Given the description of an element on the screen output the (x, y) to click on. 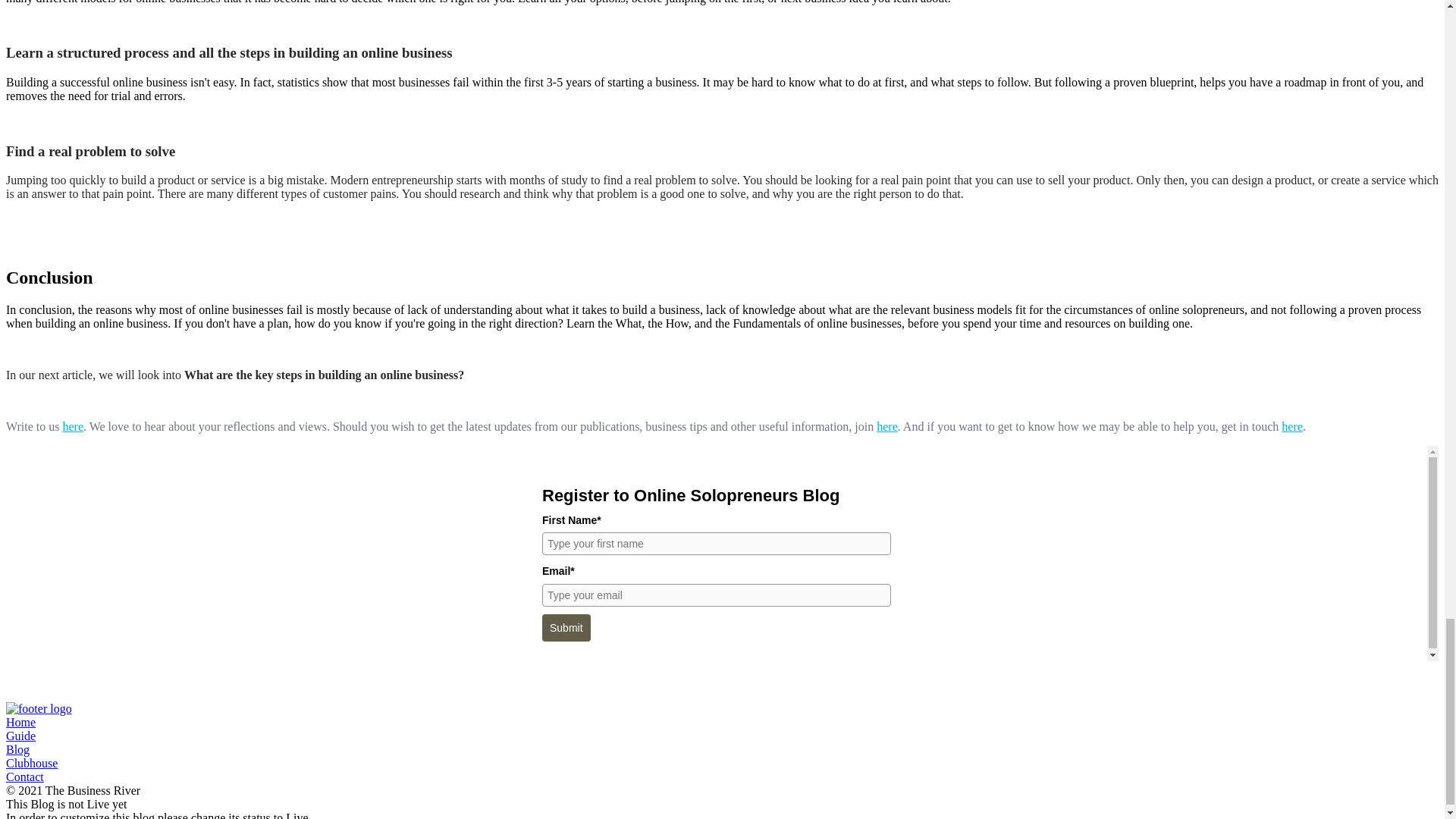
Contact (24, 776)
here (887, 426)
Blog (17, 748)
Clubhouse (31, 762)
here (72, 426)
here (1292, 426)
Guide (19, 735)
Home (19, 721)
